Given the description of an element on the screen output the (x, y) to click on. 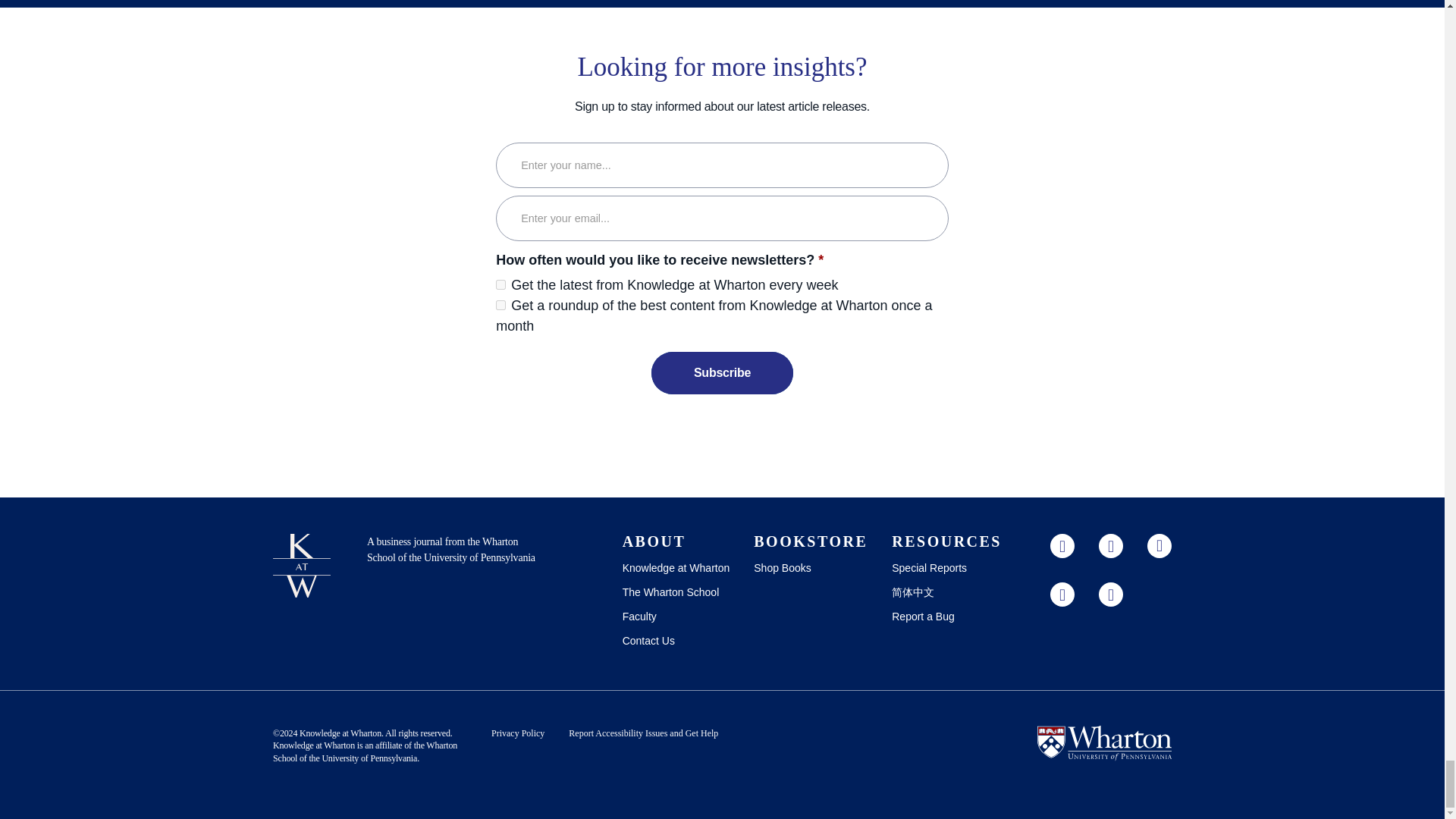
6836382 (500, 284)
Knowledge at Wharton (314, 745)
Knowledge at Wharton (340, 733)
6825401 (500, 305)
